Given the description of an element on the screen output the (x, y) to click on. 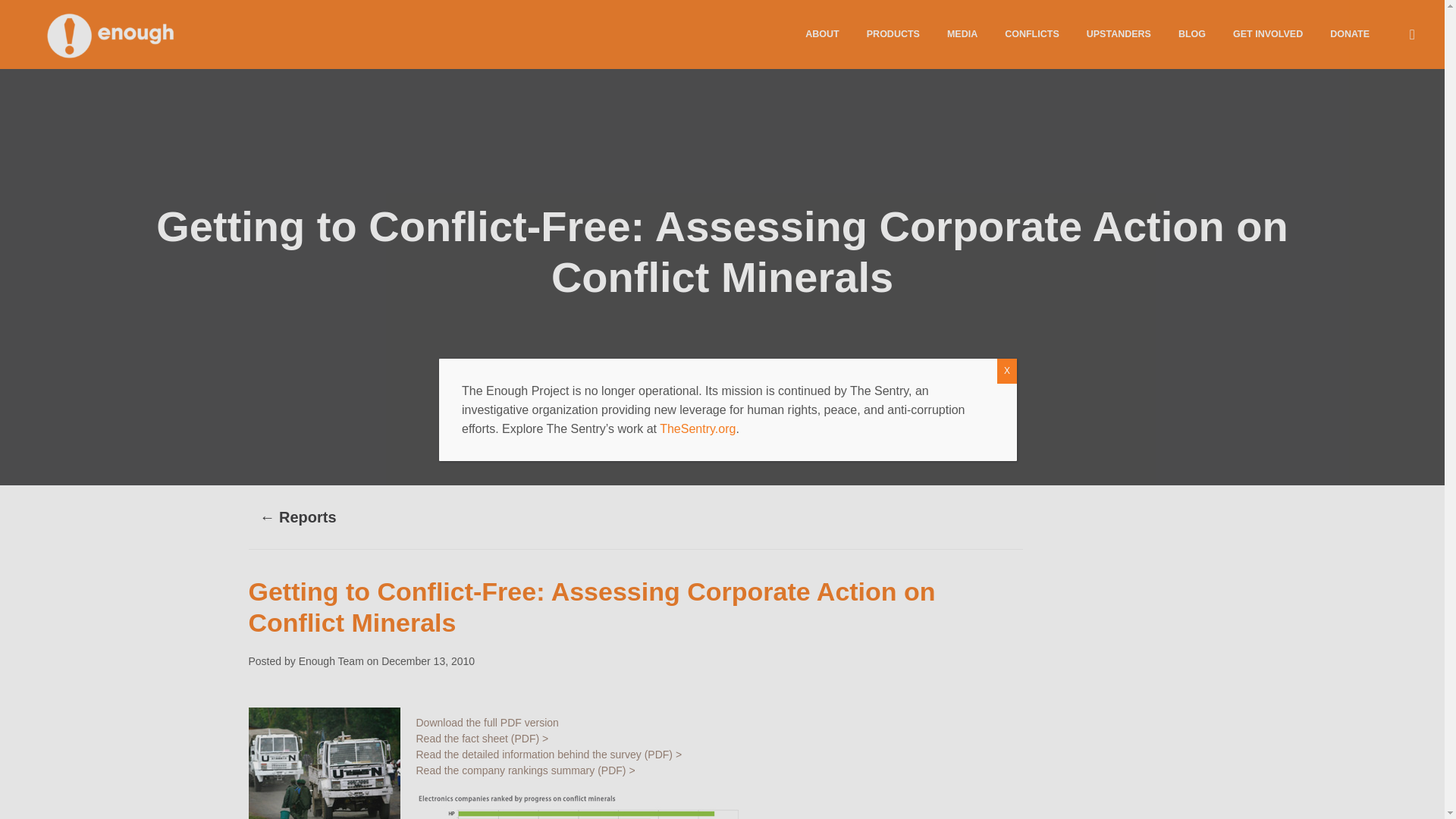
GET INVOLVED (1268, 33)
PRODUCTS (893, 33)
UPSTANDERS (1118, 33)
ABOUT (821, 33)
CONFLICTS (1032, 33)
